Given the description of an element on the screen output the (x, y) to click on. 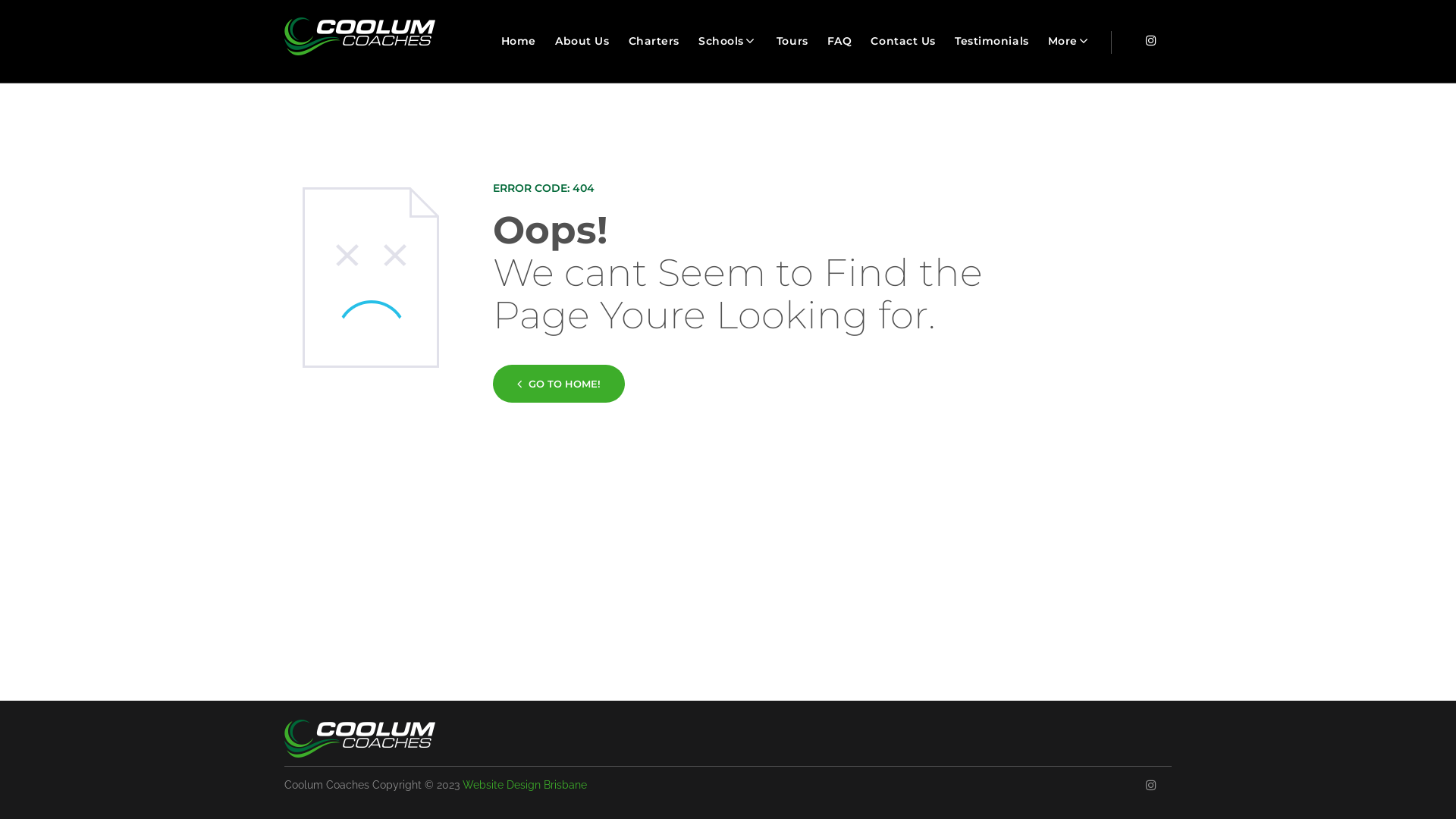
More Element type: text (1069, 41)
Tours Element type: text (792, 41)
Testimonials Element type: text (991, 41)
GO TO HOME! Element type: text (558, 383)
Schools Element type: text (727, 41)
Contact Us Element type: text (902, 41)
Instagram Element type: text (1150, 784)
About Us Element type: text (581, 41)
Instagram Element type: text (1150, 40)
Website Design Brisbane Element type: text (524, 784)
HOME Element type: text (1071, 39)
Charters Element type: text (652, 41)
Home Element type: text (518, 41)
FAQ Element type: text (839, 41)
